Given the description of an element on the screen output the (x, y) to click on. 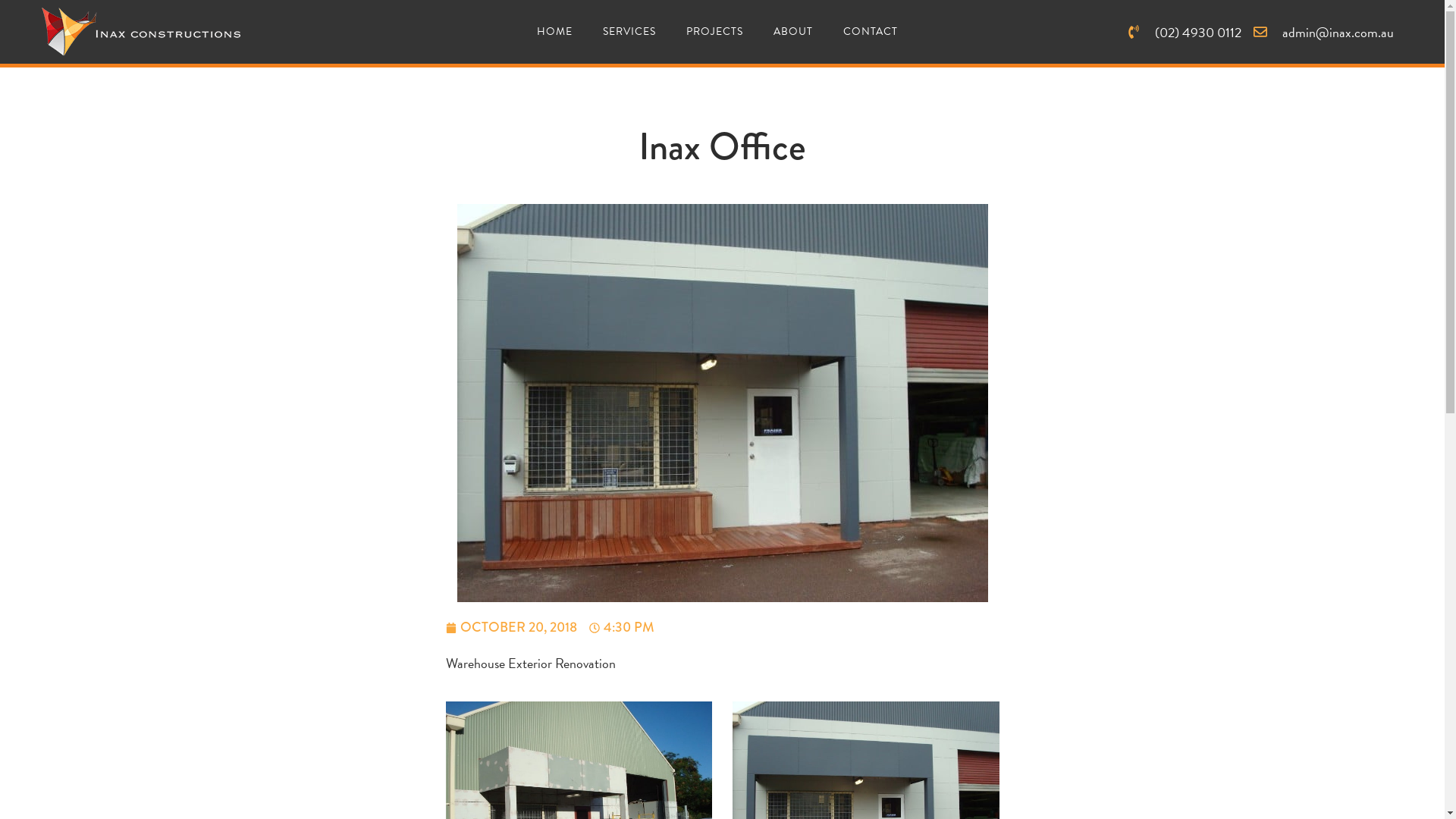
admin@inax.com.au Element type: text (1323, 31)
HOME Element type: text (554, 31)
CONTACT Element type: text (870, 31)
OCTOBER 20, 2018 Element type: text (511, 627)
ABOUT Element type: text (793, 31)
SERVICES Element type: text (629, 31)
(02) 4930 0112 Element type: text (1184, 31)
PROJECTS Element type: text (714, 31)
